Given the description of an element on the screen output the (x, y) to click on. 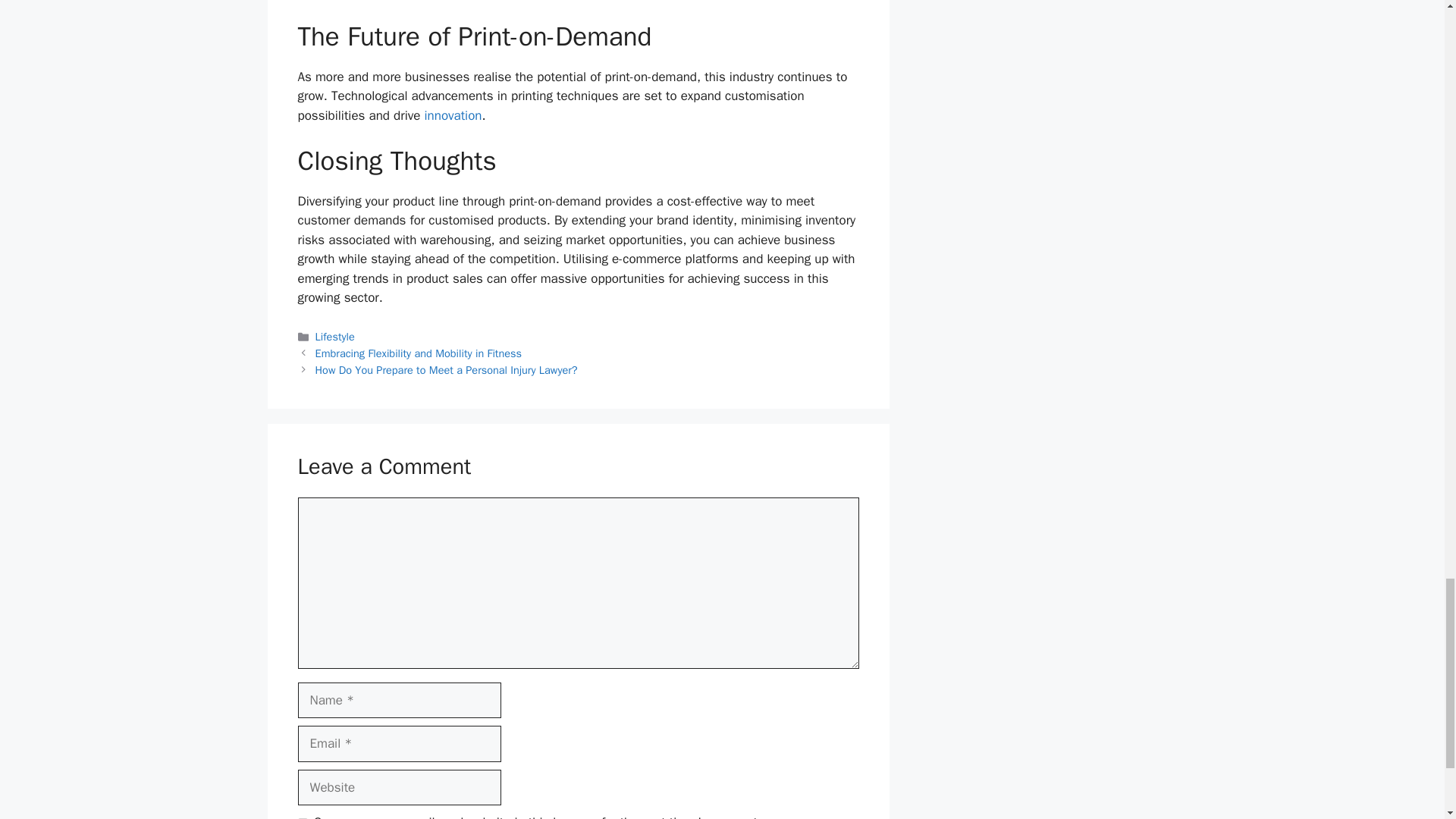
innovation (453, 115)
Embracing Flexibility and Mobility in Fitness (418, 353)
How Do You Prepare to Meet a Personal Injury Lawyer? (446, 369)
Lifestyle (335, 336)
